Given the description of an element on the screen output the (x, y) to click on. 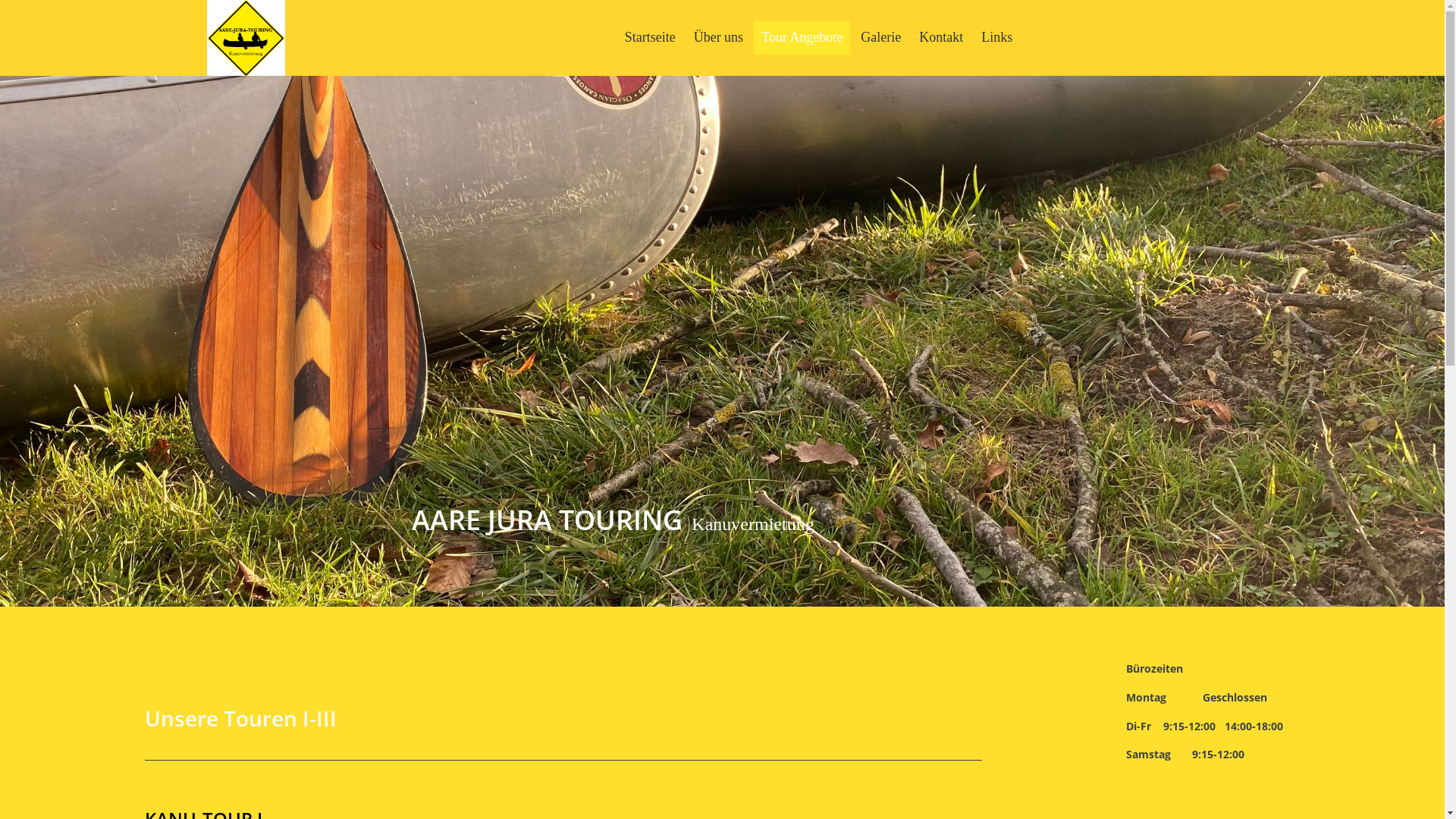
Startseite Element type: text (649, 36)
Links Element type: text (996, 36)
Kontakt Element type: text (941, 36)
Galerie Element type: text (880, 36)
Tour Angebote Element type: text (801, 36)
